Given the description of an element on the screen output the (x, y) to click on. 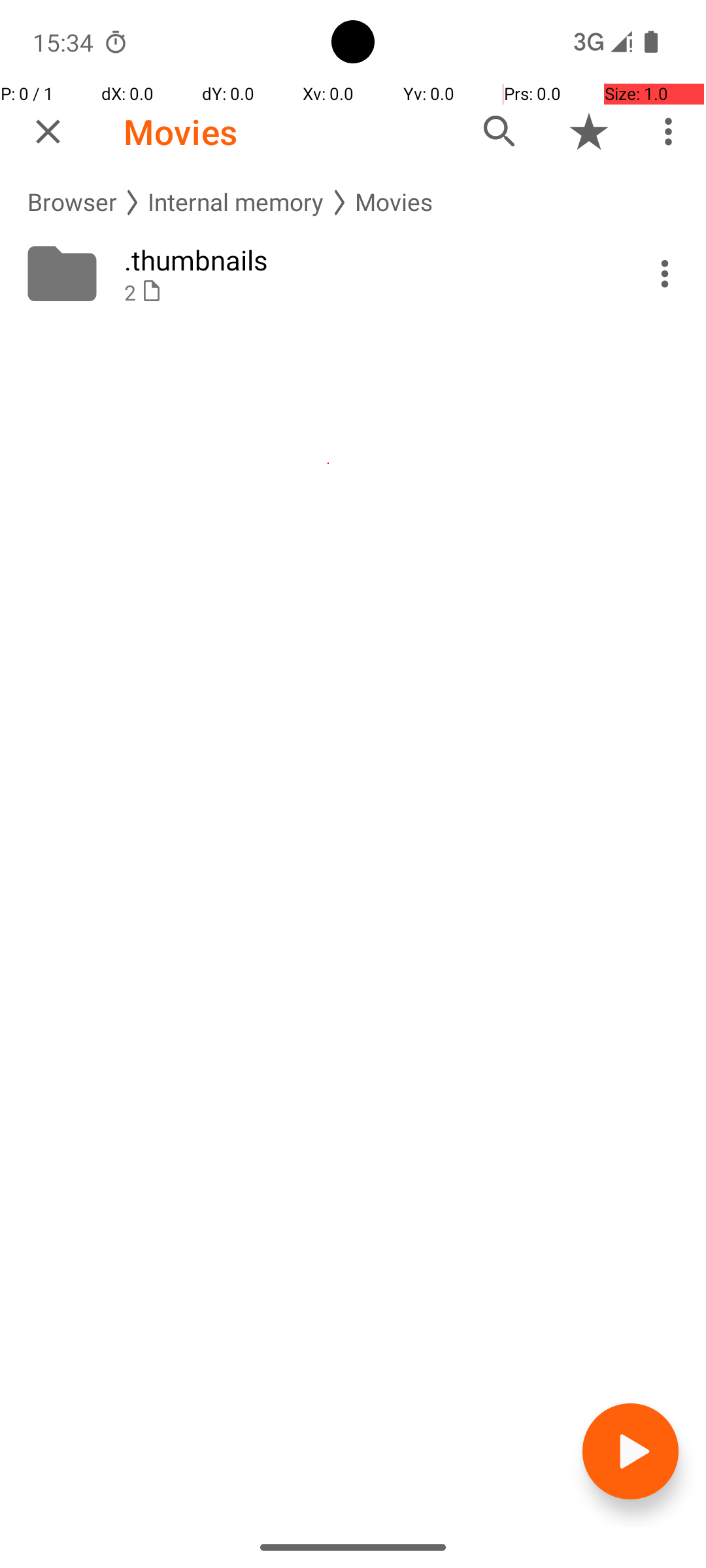
Folder: .thumbnails, 2 media files Element type: android.view.ViewGroup (353, 273)
.thumbnails Element type: android.widget.TextView (366, 259)
2 *§* Element type: android.widget.TextView (366, 292)
